Given the description of an element on the screen output the (x, y) to click on. 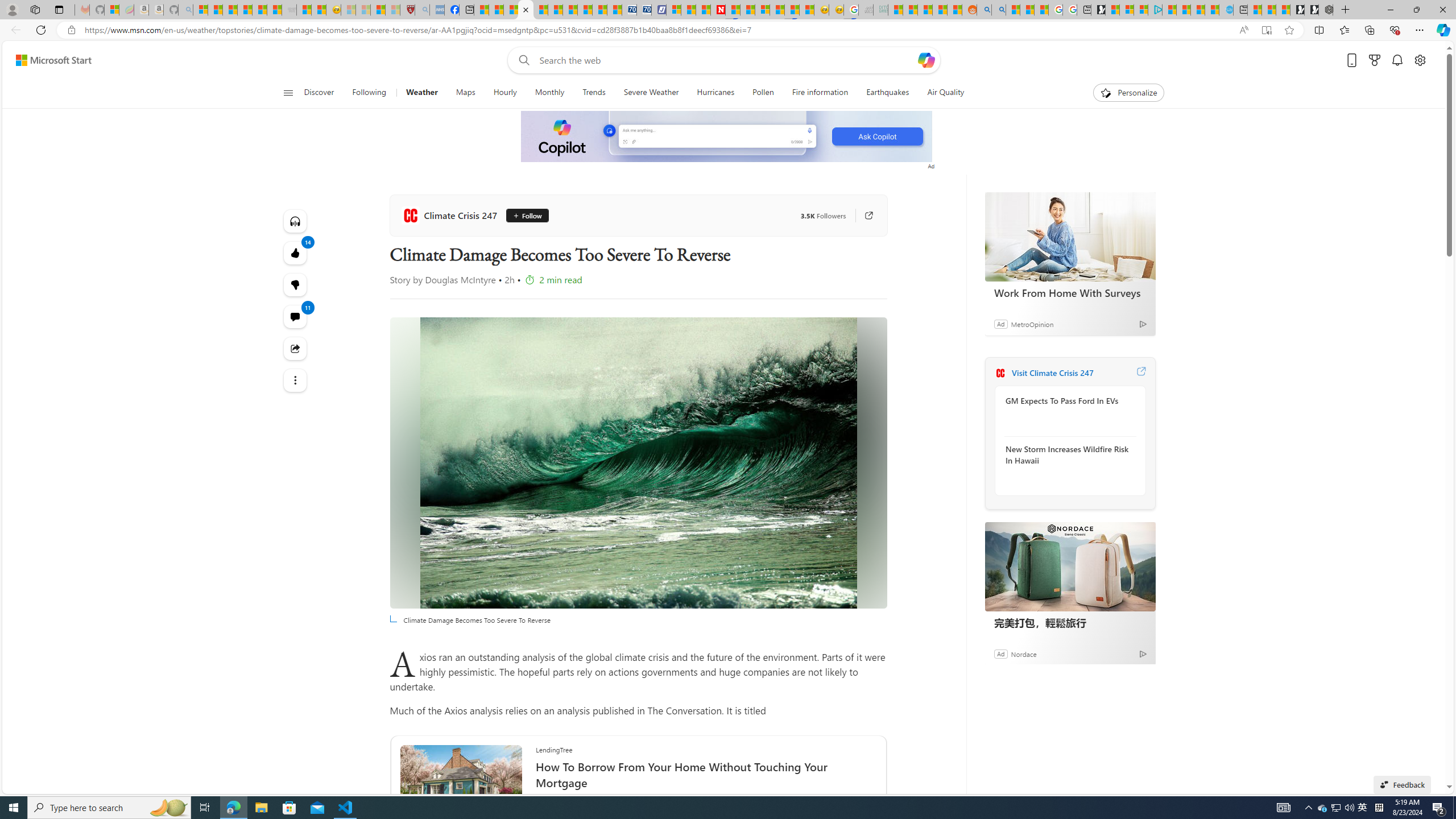
Maps (465, 92)
Earthquakes (888, 92)
The Weather Channel - MSN (229, 9)
Earthquakes (887, 92)
Hourly (504, 92)
Pollen (763, 92)
Monthly (549, 92)
Climate Crisis 247 (451, 215)
